Given the description of an element on the screen output the (x, y) to click on. 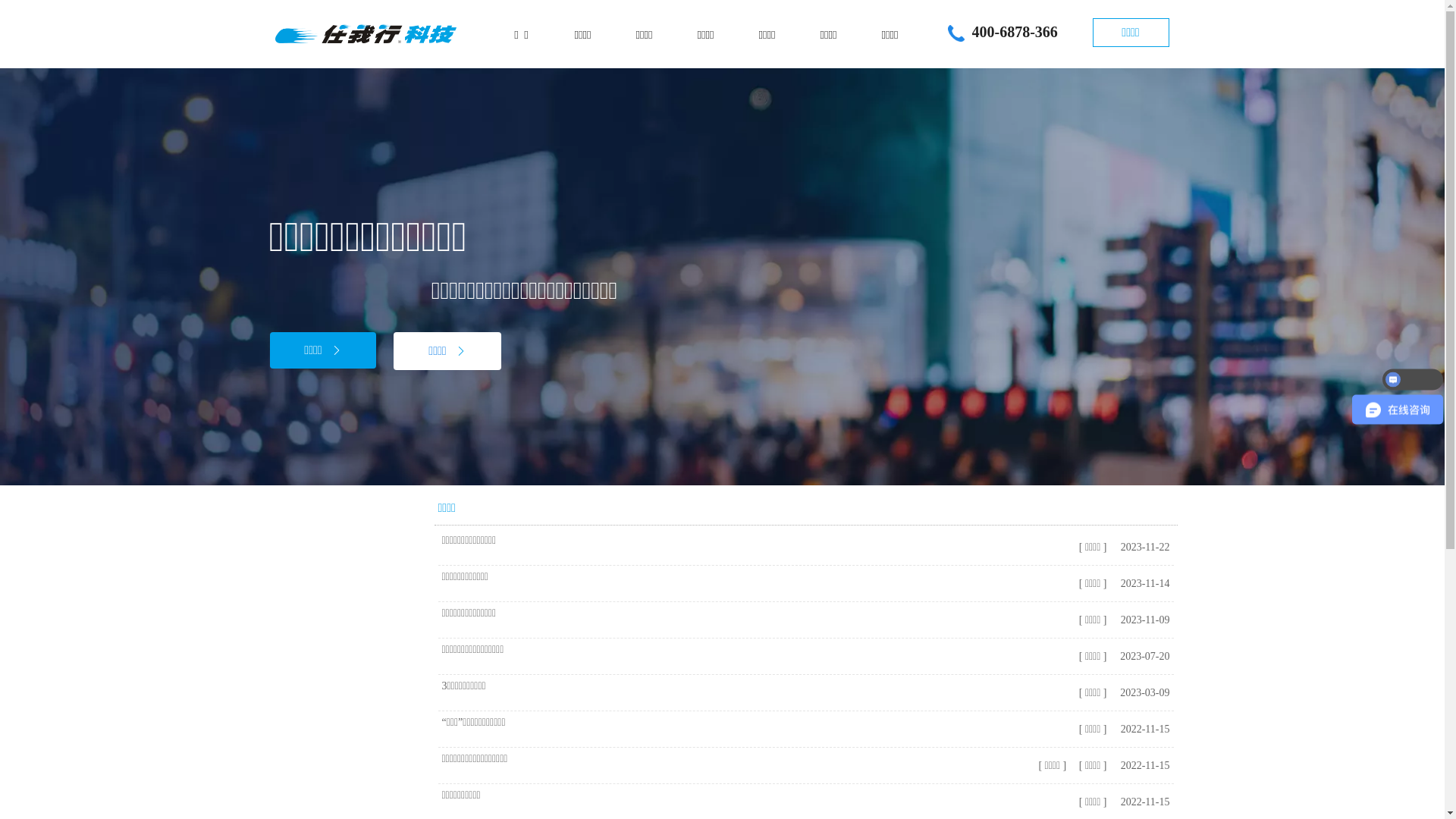
2022-11-15 Element type: text (1142, 765)
2023-07-20 Element type: text (1142, 656)
2023-11-09 Element type: text (1142, 619)
2023-11-22 Element type: text (1142, 546)
2023-11-14 Element type: text (1142, 583)
2023-03-09 Element type: text (1142, 692)
2022-11-15 Element type: text (1142, 801)
2022-11-15 Element type: text (1142, 728)
